Given the description of an element on the screen output the (x, y) to click on. 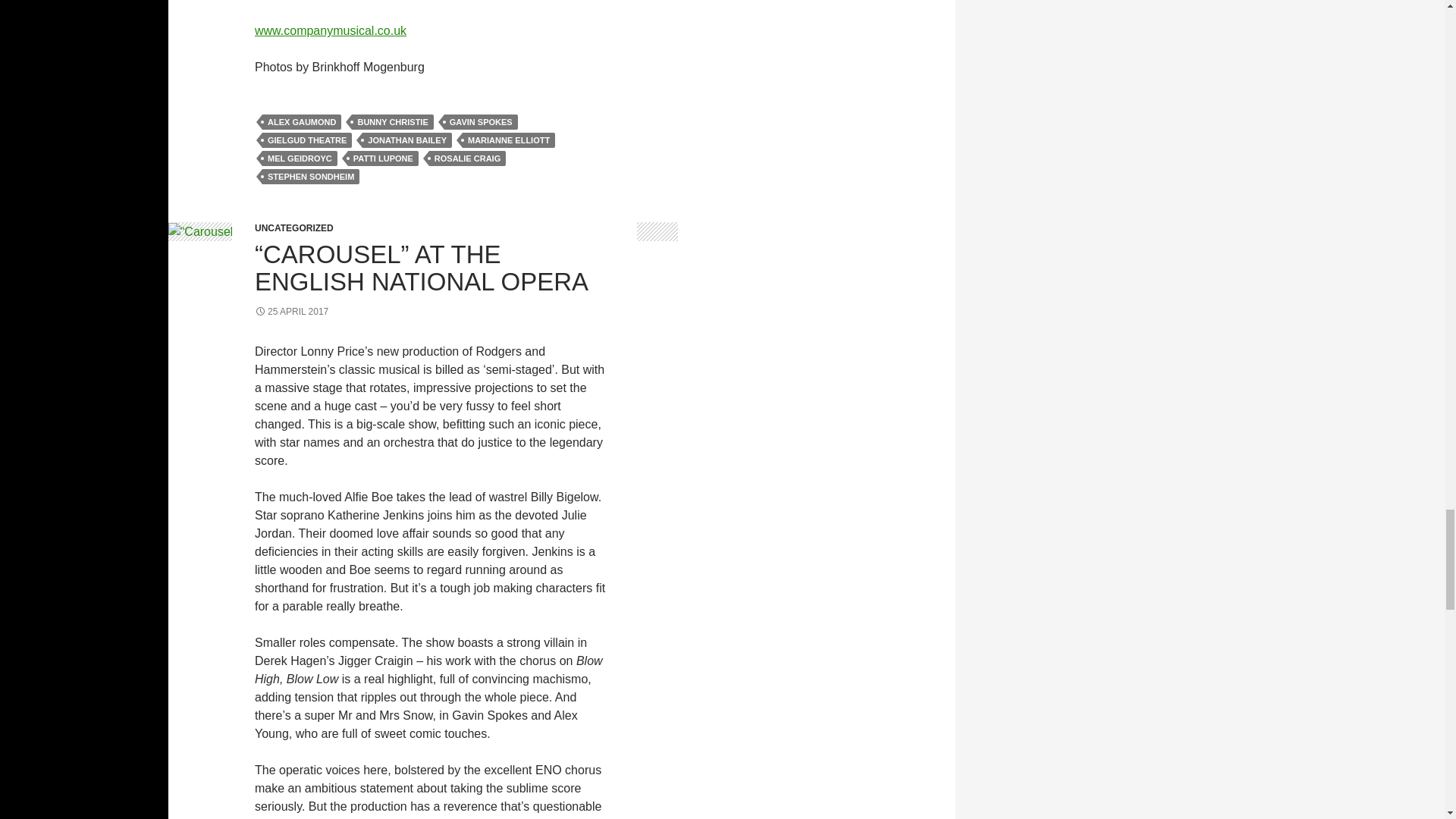
GIELGUD THEATRE (307, 140)
www.companymusical.co.uk (330, 30)
MARIANNE ELLIOTT (508, 140)
PATTI LUPONE (383, 158)
GAVIN SPOKES (481, 121)
ALEX GAUMOND (301, 121)
ROSALIE CRAIG (467, 158)
JONATHAN BAILEY (406, 140)
STEPHEN SONDHEIM (310, 176)
BUNNY CHRISTIE (392, 121)
